Given the description of an element on the screen output the (x, y) to click on. 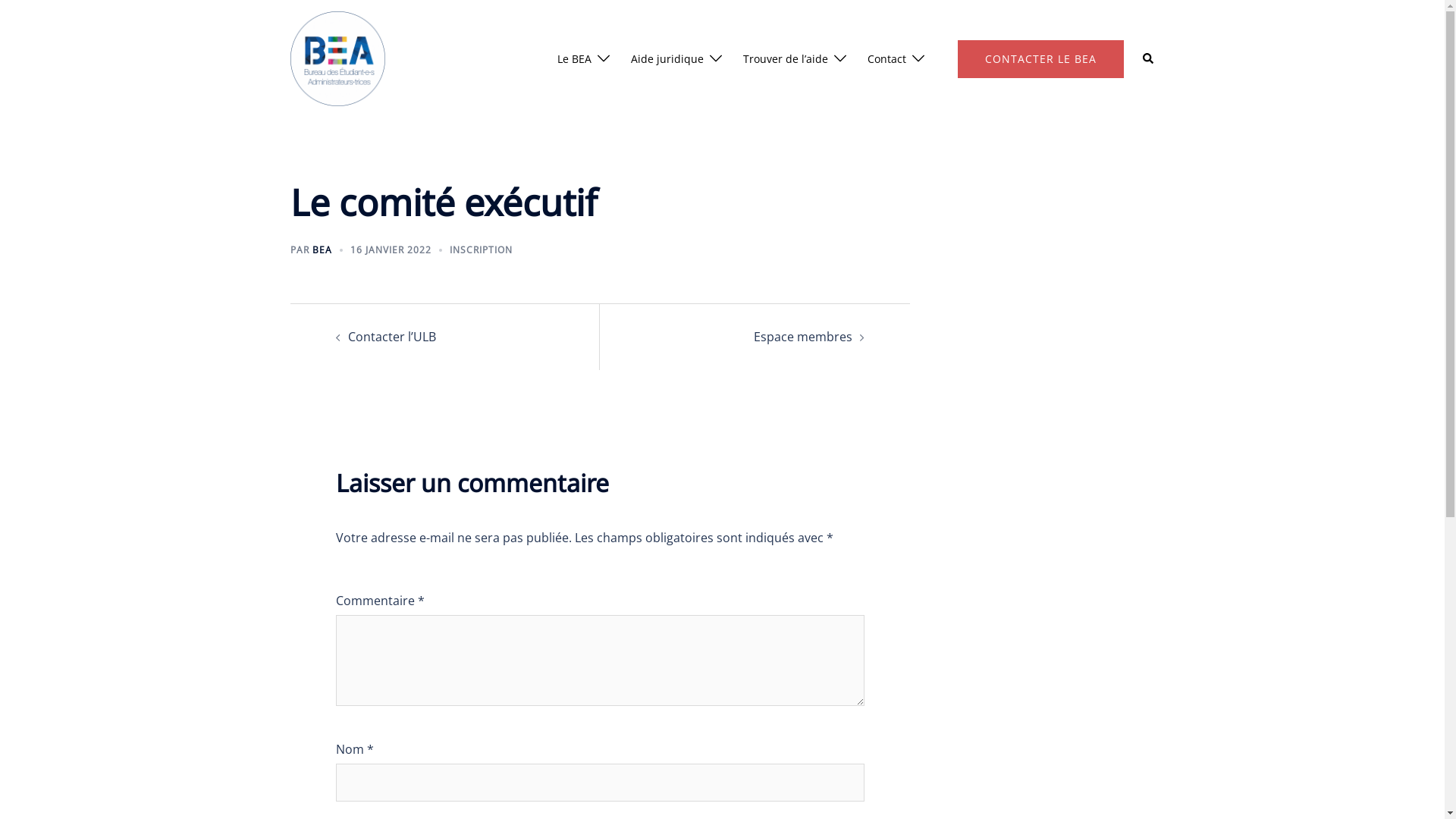
CONTACTER LE BEA Element type: text (1040, 58)
Aide juridique Element type: text (666, 59)
Contact Element type: text (886, 59)
Le BEA Element type: text (573, 59)
Espace membres Element type: text (802, 336)
BEA Element type: text (322, 249)
INSCRIPTION Element type: text (479, 249)
16 JANVIER 2022 Element type: text (390, 249)
